Given the description of an element on the screen output the (x, y) to click on. 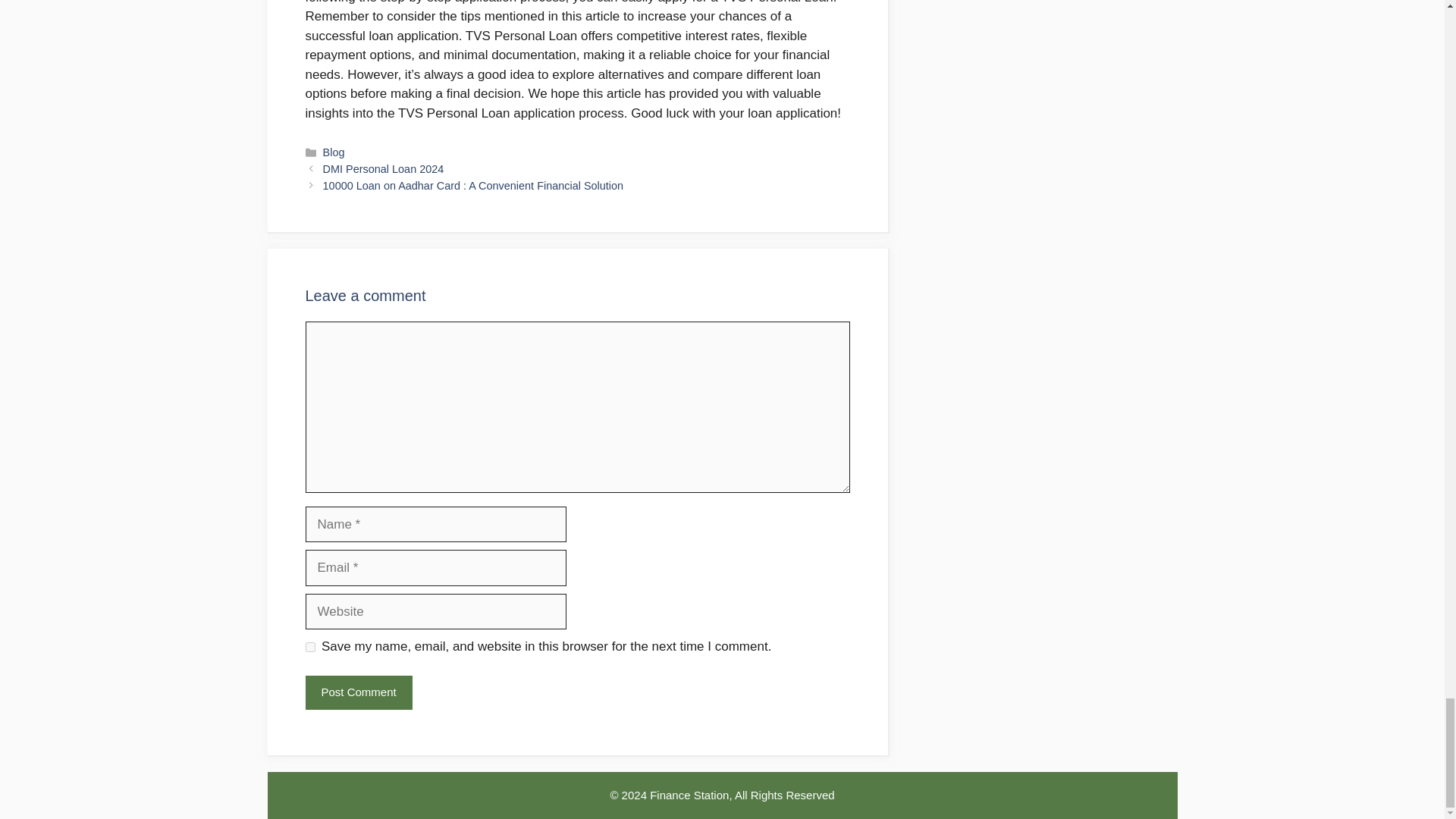
Post Comment (358, 692)
yes (309, 646)
DMI Personal Loan 2024 (383, 168)
Post Comment (358, 692)
10000 Loan on Aadhar Card : A Convenient Financial Solution (473, 185)
Blog (334, 152)
